Given the description of an element on the screen output the (x, y) to click on. 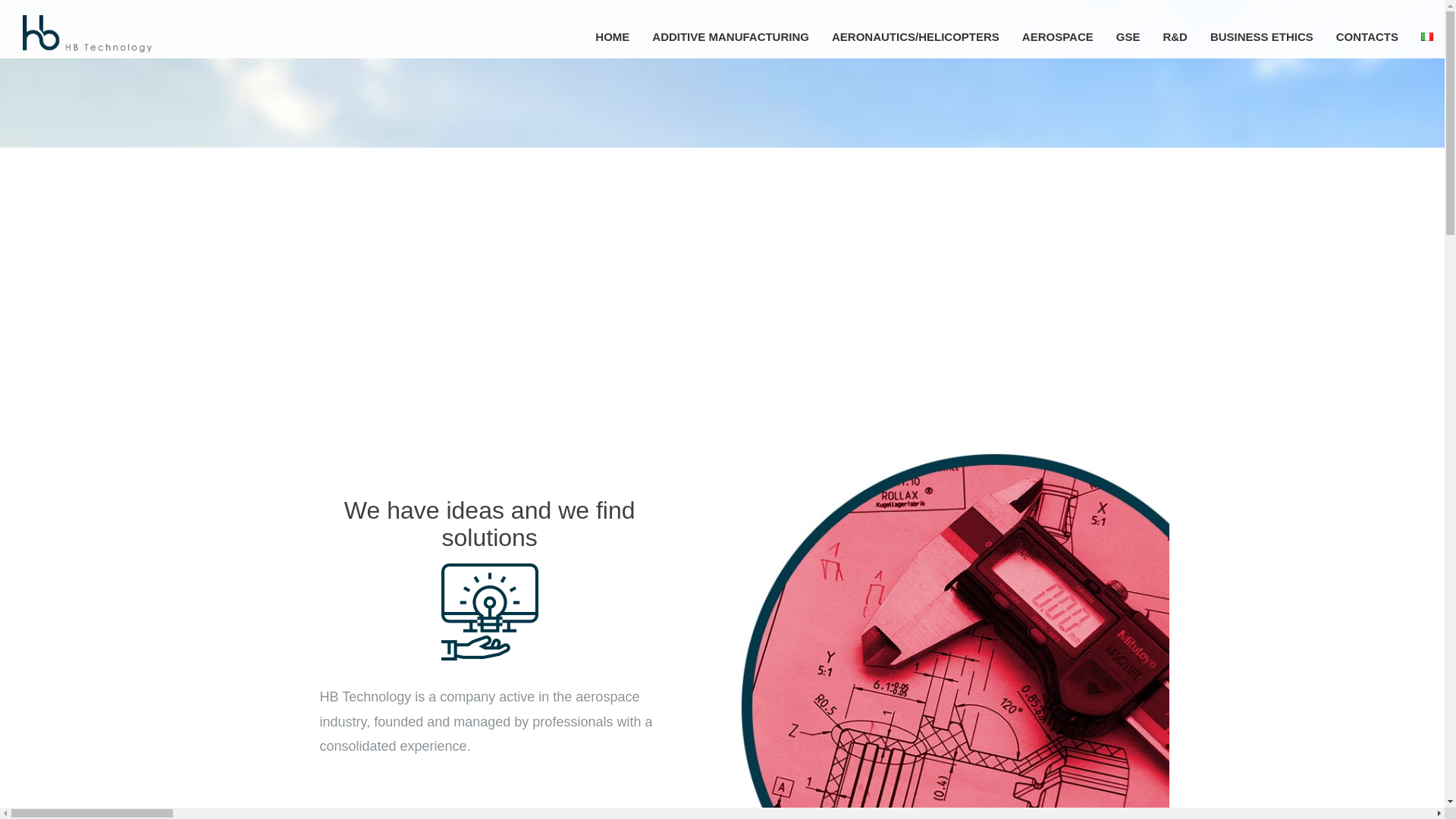
GSE (1128, 36)
AEROSPACE (1057, 36)
ADDITIVE MANUFACTURING (730, 36)
CONTACTS (1366, 36)
BUSINESS ETHICS (1261, 36)
HB Technology (87, 47)
HOME (611, 36)
